Given the description of an element on the screen output the (x, y) to click on. 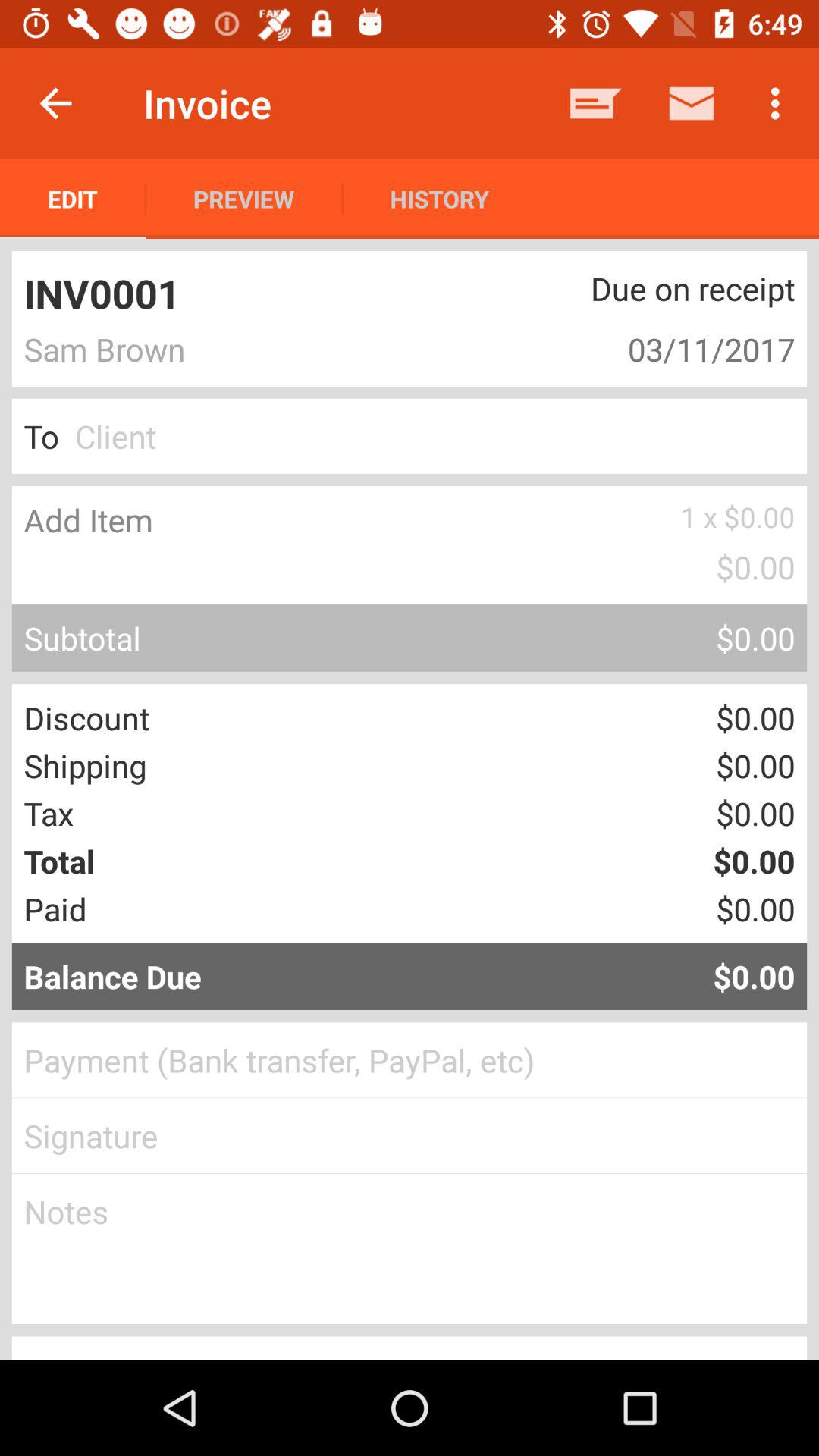
select icon below invoice (243, 198)
